Given the description of an element on the screen output the (x, y) to click on. 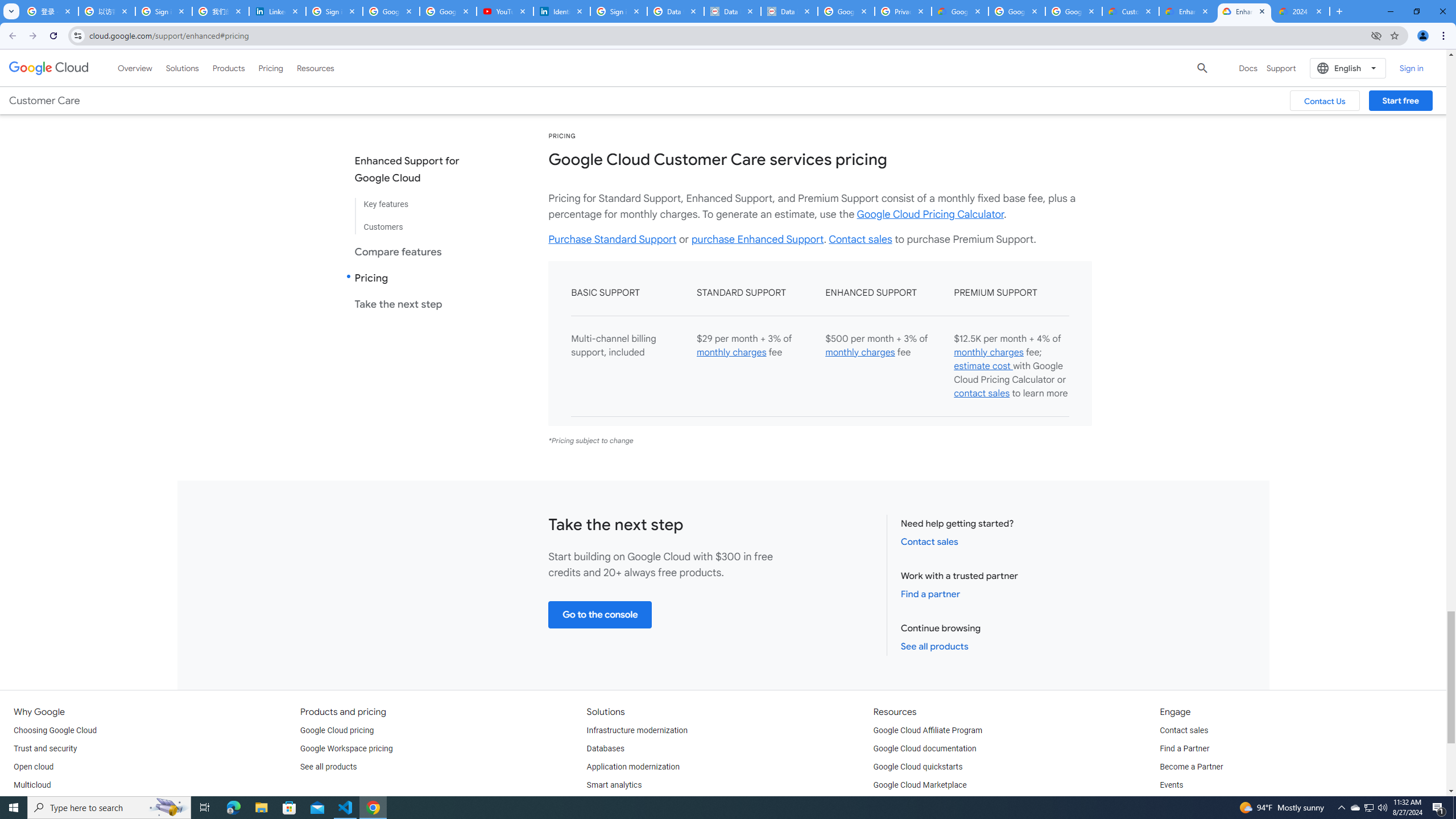
Google Workspace - Specific Terms (1015, 11)
Sign in (1411, 67)
Enhanced Support | Google Cloud (1187, 11)
Global infrastructure (49, 802)
Chrome (1445, 35)
Products (228, 67)
Google Workspace - Specific Terms (1073, 11)
Restore (1416, 11)
Docs (1248, 67)
Events (1170, 784)
Go to the console (600, 614)
Smart analytics (614, 784)
Sign in - Google Accounts (334, 11)
